Given the description of an element on the screen output the (x, y) to click on. 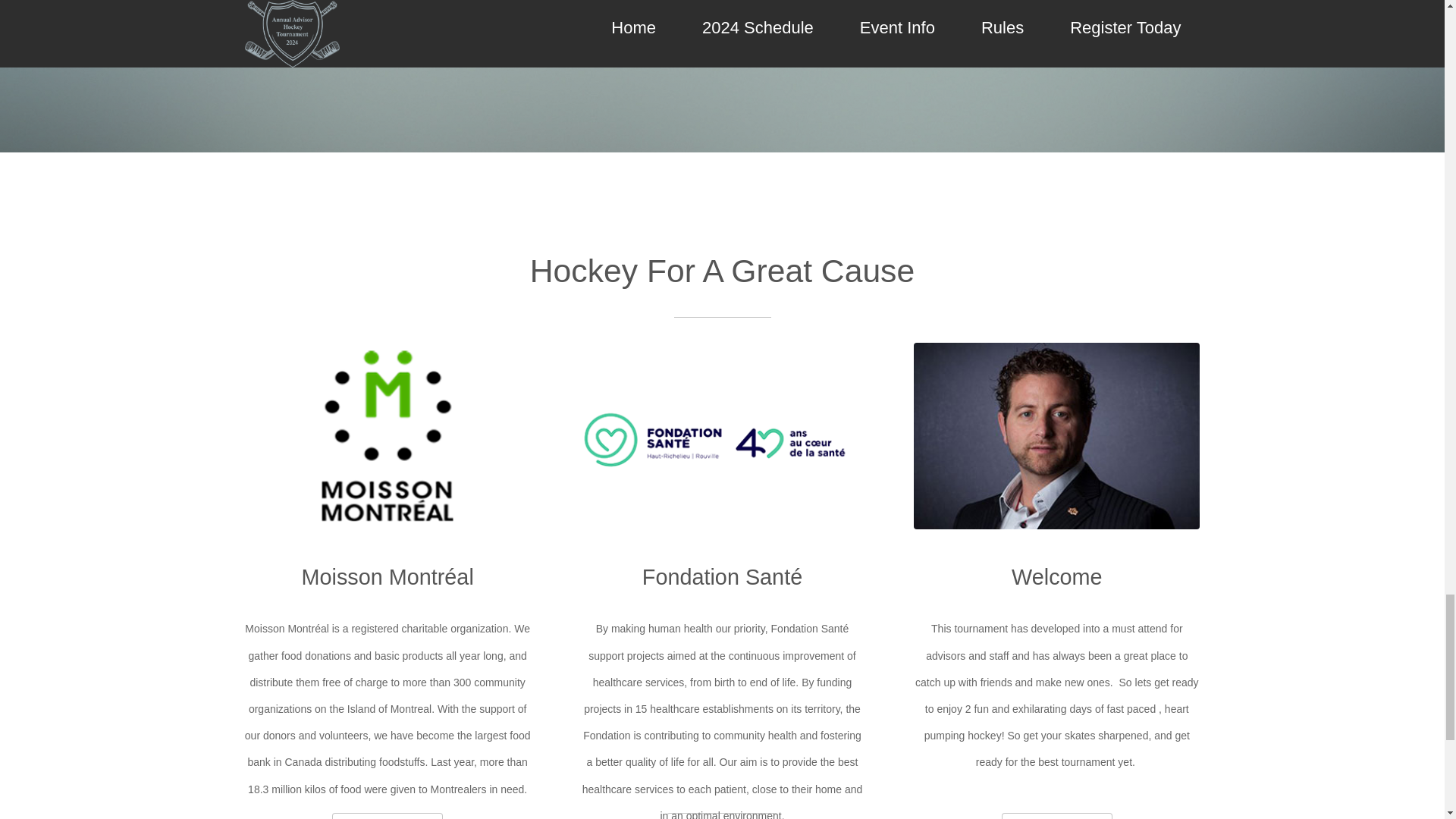
MORE (1056, 816)
MORE (721, 816)
MORE (386, 816)
